Given the description of an element on the screen output the (x, y) to click on. 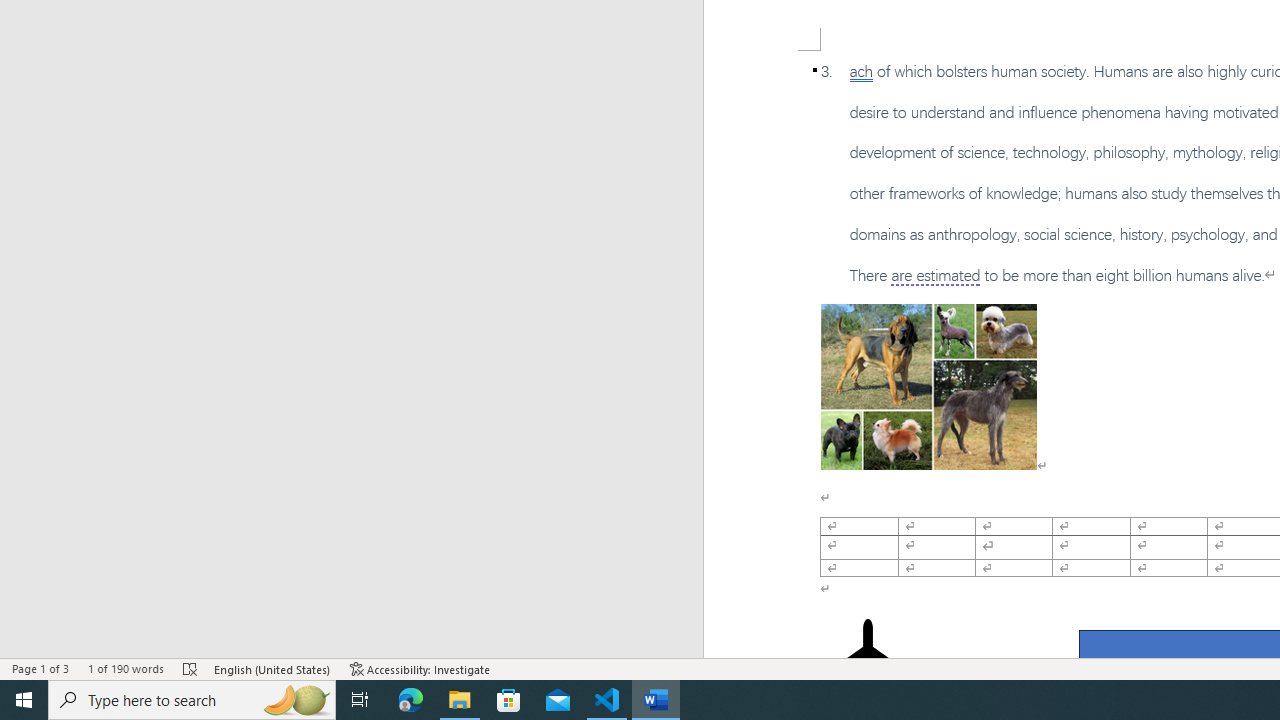
Airplane with solid fill (867, 657)
Morphological variation in six dogs (928, 386)
Page Number Page 1 of 3 (39, 668)
Spelling and Grammar Check Errors (191, 668)
